Given the description of an element on the screen output the (x, y) to click on. 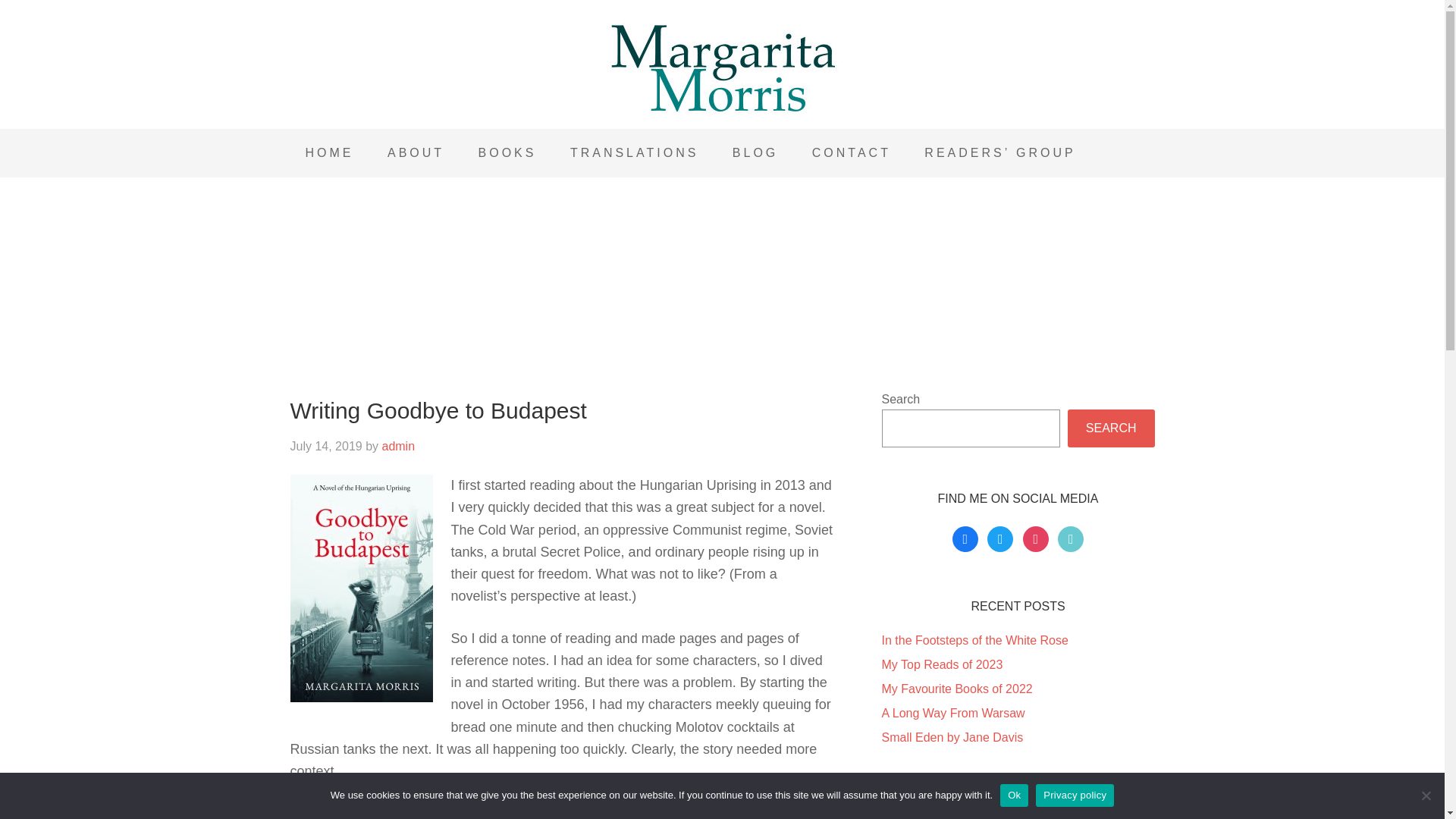
twitter (1000, 537)
My Favourite Books of 2022 (956, 688)
A Long Way From Warsaw (952, 712)
Instagram (1035, 537)
BOOKS (507, 152)
facebook (965, 537)
In the Footsteps of the White Rose (973, 640)
BLOG (755, 152)
TRANSLATIONS (634, 152)
HOME (328, 152)
